Given the description of an element on the screen output the (x, y) to click on. 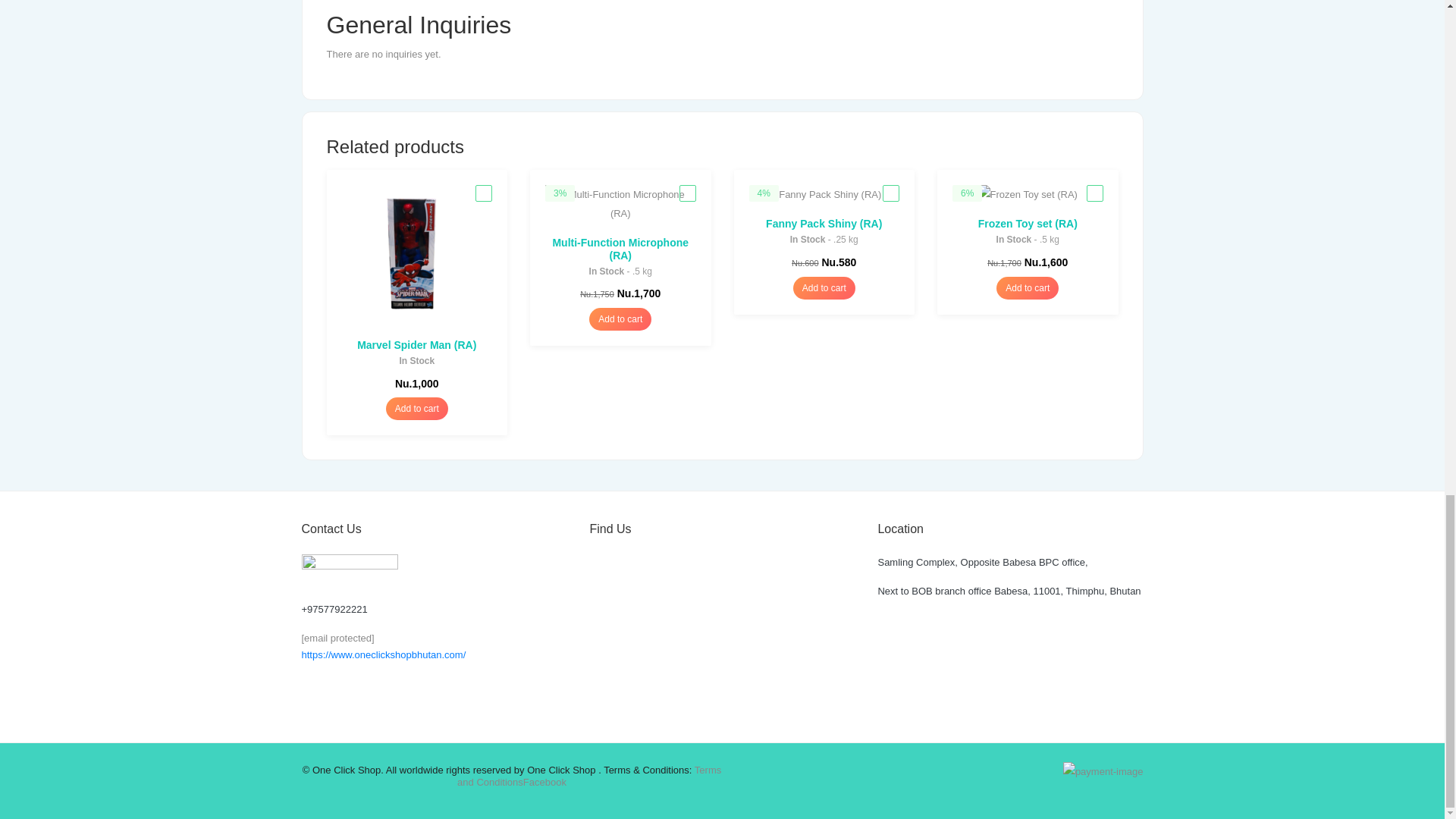
Add to cart (619, 318)
Add to cart (416, 408)
Nu.1,000 (416, 393)
